Given the description of an element on the screen output the (x, y) to click on. 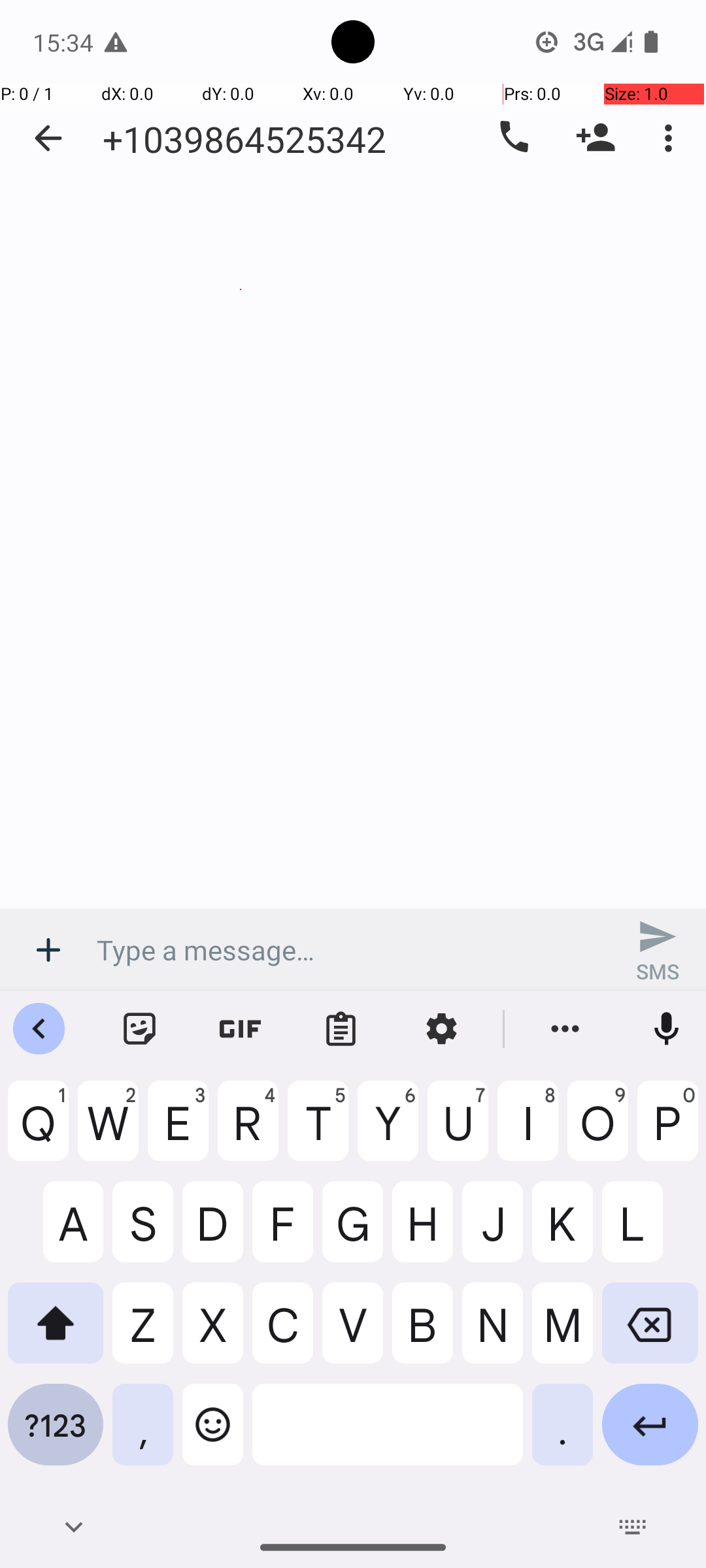
+1039864525342 Element type: android.widget.TextView (244, 138)
